Given the description of an element on the screen output the (x, y) to click on. 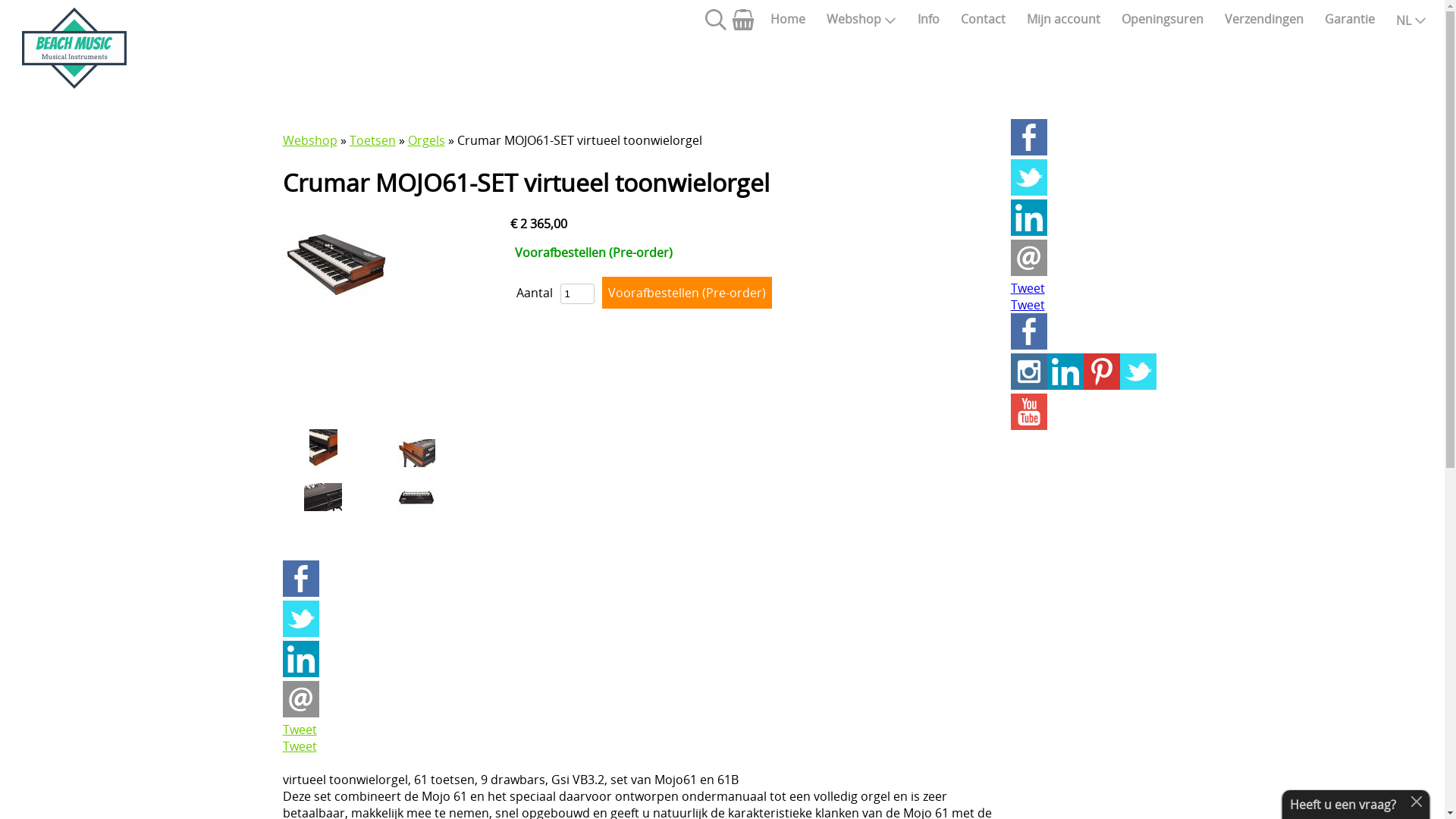
Garantie Element type: text (1349, 18)
Tweet Element type: text (299, 745)
NL Element type: text (1411, 18)
Home Element type: text (787, 18)
Voorafbestellen (Pre-order) Element type: text (686, 292)
Verzendingen Element type: text (1264, 18)
Orgels Element type: text (426, 139)
Heeft u een vraag? Element type: text (1342, 804)
Tweet Element type: text (1027, 287)
Zoeken Element type: text (715, 25)
Tweet Element type: text (1027, 304)
Contact Element type: text (983, 18)
Mijn account Element type: text (1063, 18)
Webshop Element type: text (860, 18)
Webshop Element type: text (309, 139)
Tweet Element type: text (299, 729)
Info Element type: text (928, 18)
Toetsen Element type: text (371, 139)
Openingsuren Element type: text (1162, 18)
